Given the description of an element on the screen output the (x, y) to click on. 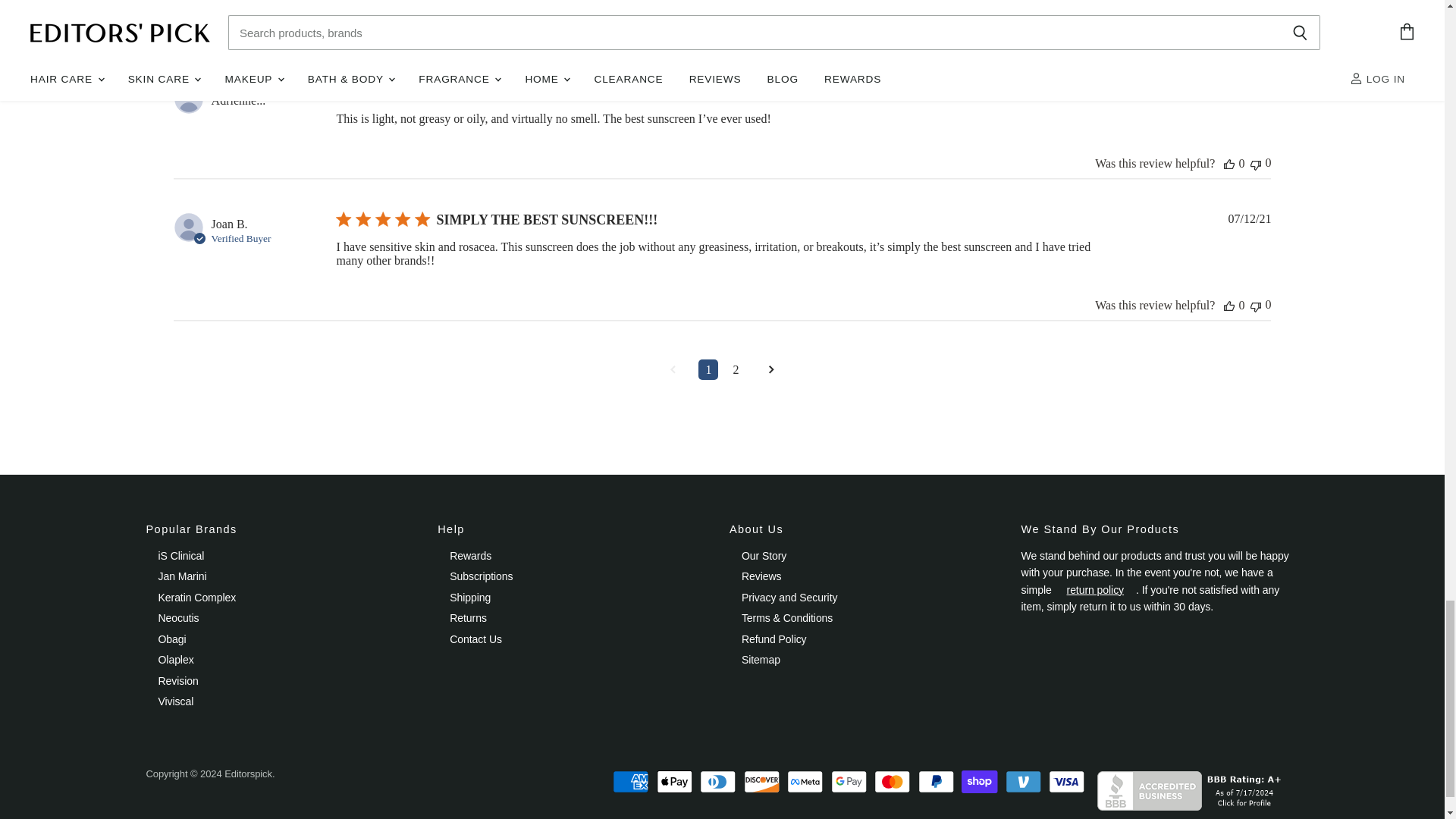
Joan B. (229, 223)
Returns (1095, 589)
Adrienne J. (238, 100)
